Given the description of an element on the screen output the (x, y) to click on. 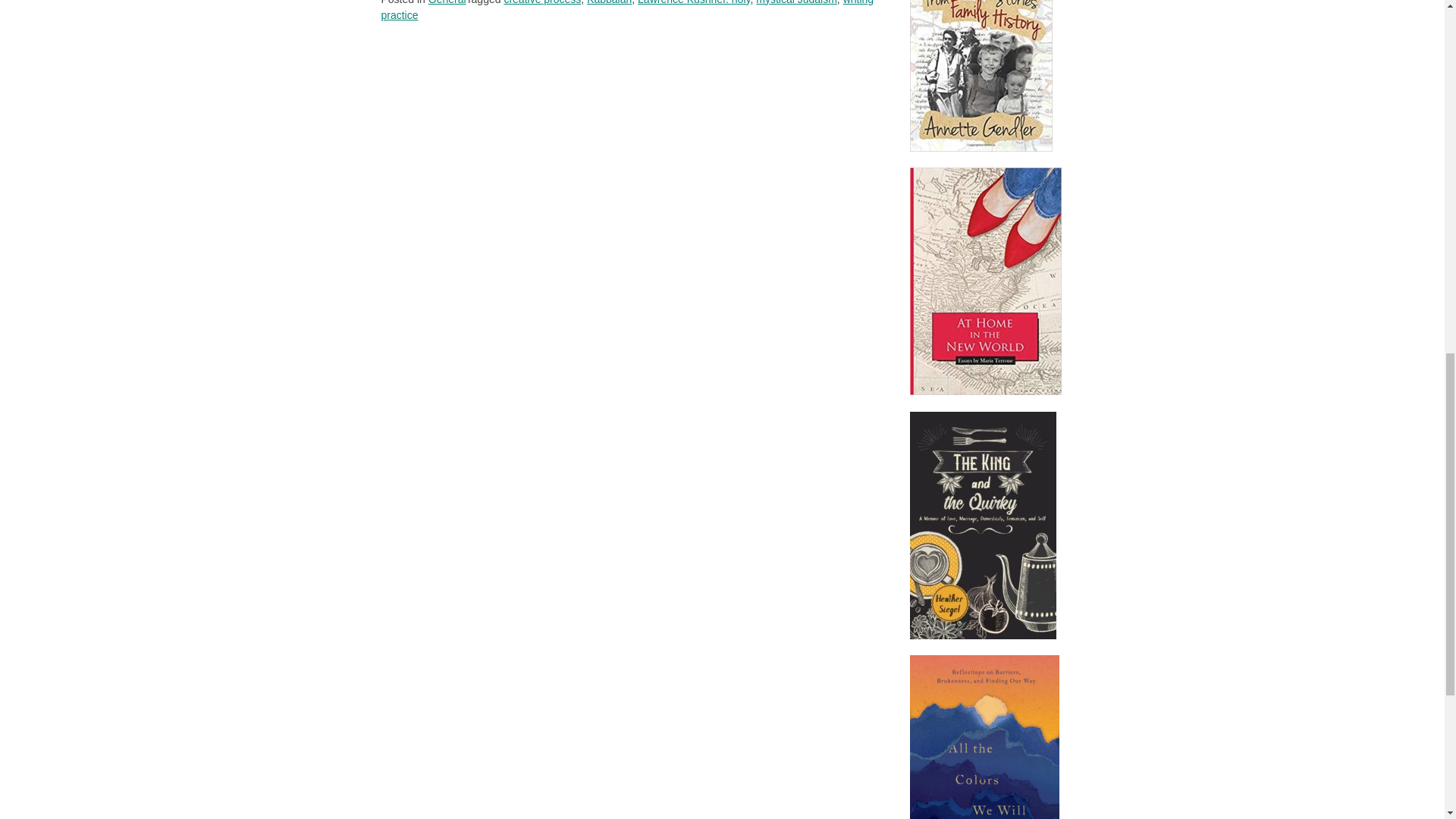
writing practice (626, 10)
Lawrence Kushner. holy (693, 2)
creative process (541, 2)
General (446, 2)
mystical Judaism (796, 2)
Kabbalah (608, 2)
